Given the description of an element on the screen output the (x, y) to click on. 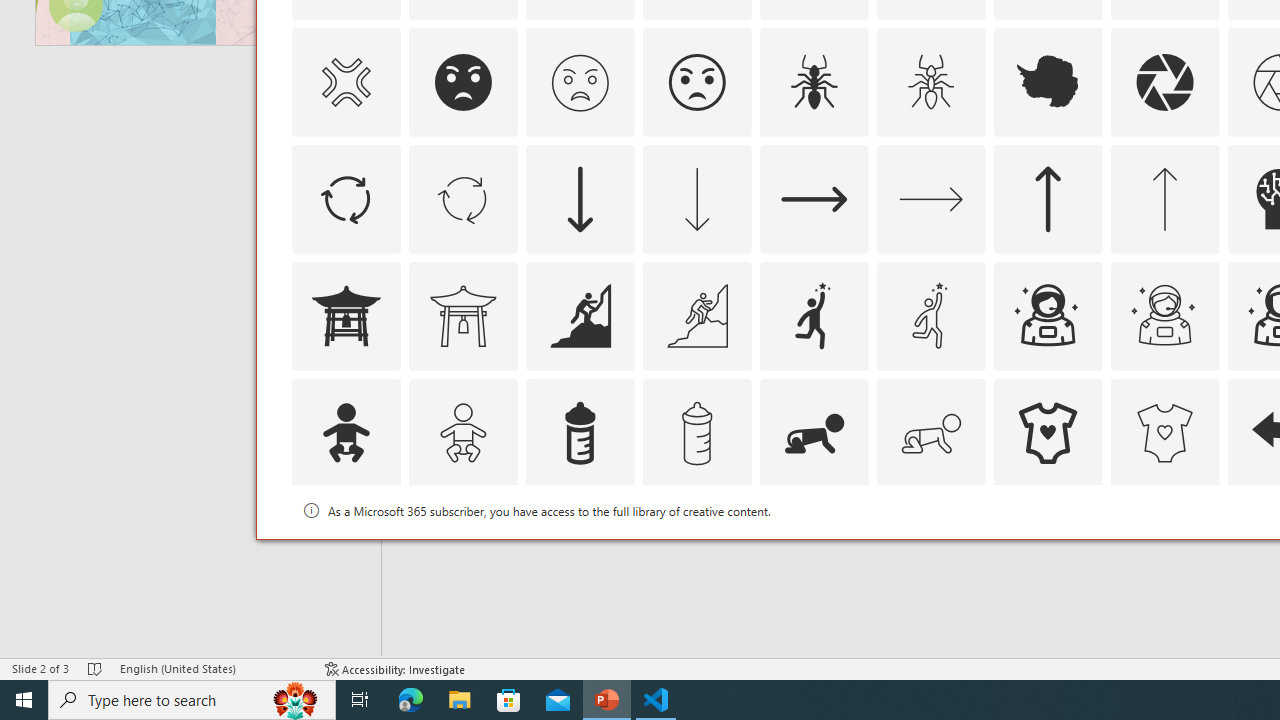
AutomationID: Icons_Antarctica (1048, 82)
AutomationID: Icons_Ant (813, 82)
AutomationID: Icons_Aspiration_M (696, 316)
AutomationID: Icons_Aspiration1_M (930, 316)
AutomationID: Icons_Badge5 (1164, 550)
AutomationID: Icons_Badge3_M (813, 550)
